Given the description of an element on the screen output the (x, y) to click on. 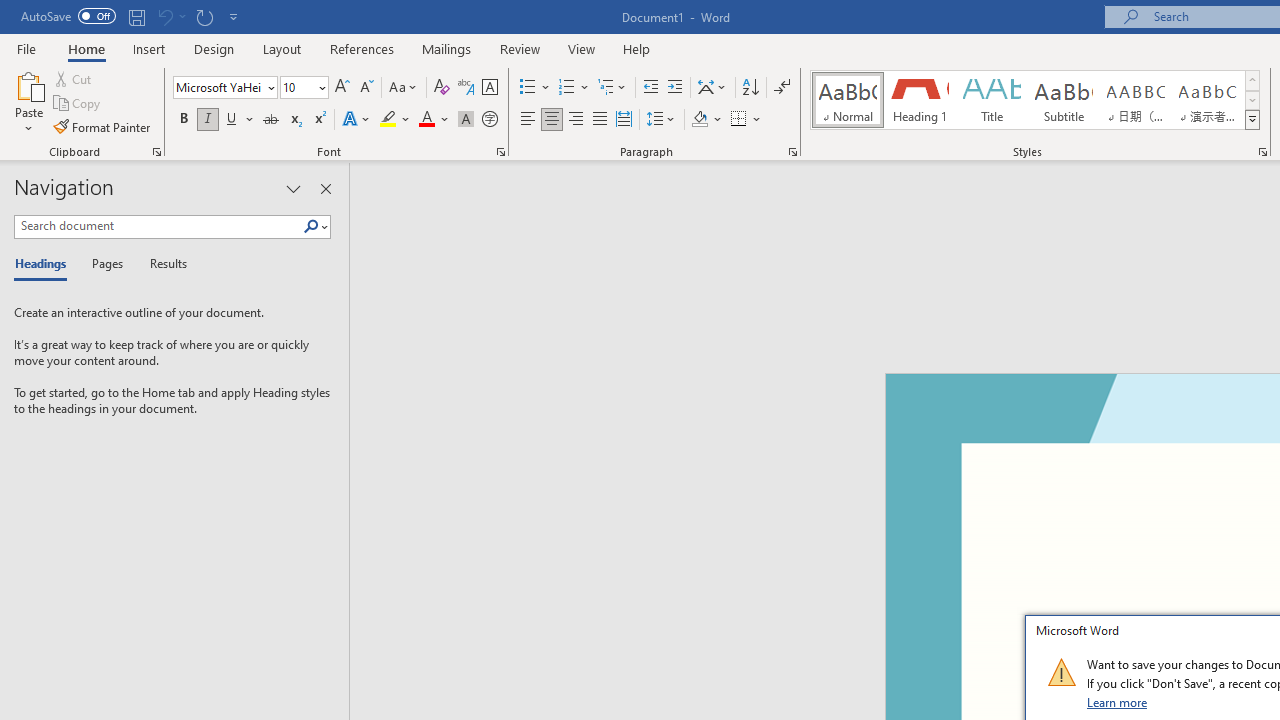
Asian Layout (712, 87)
Multilevel List (613, 87)
Title (991, 100)
Row Down (1252, 100)
Font... (500, 151)
Justify (599, 119)
Show/Hide Editing Marks (781, 87)
Learn more (1118, 702)
Paragraph... (792, 151)
Grow Font (342, 87)
Search document (157, 226)
Character Shading (465, 119)
